Given the description of an element on the screen output the (x, y) to click on. 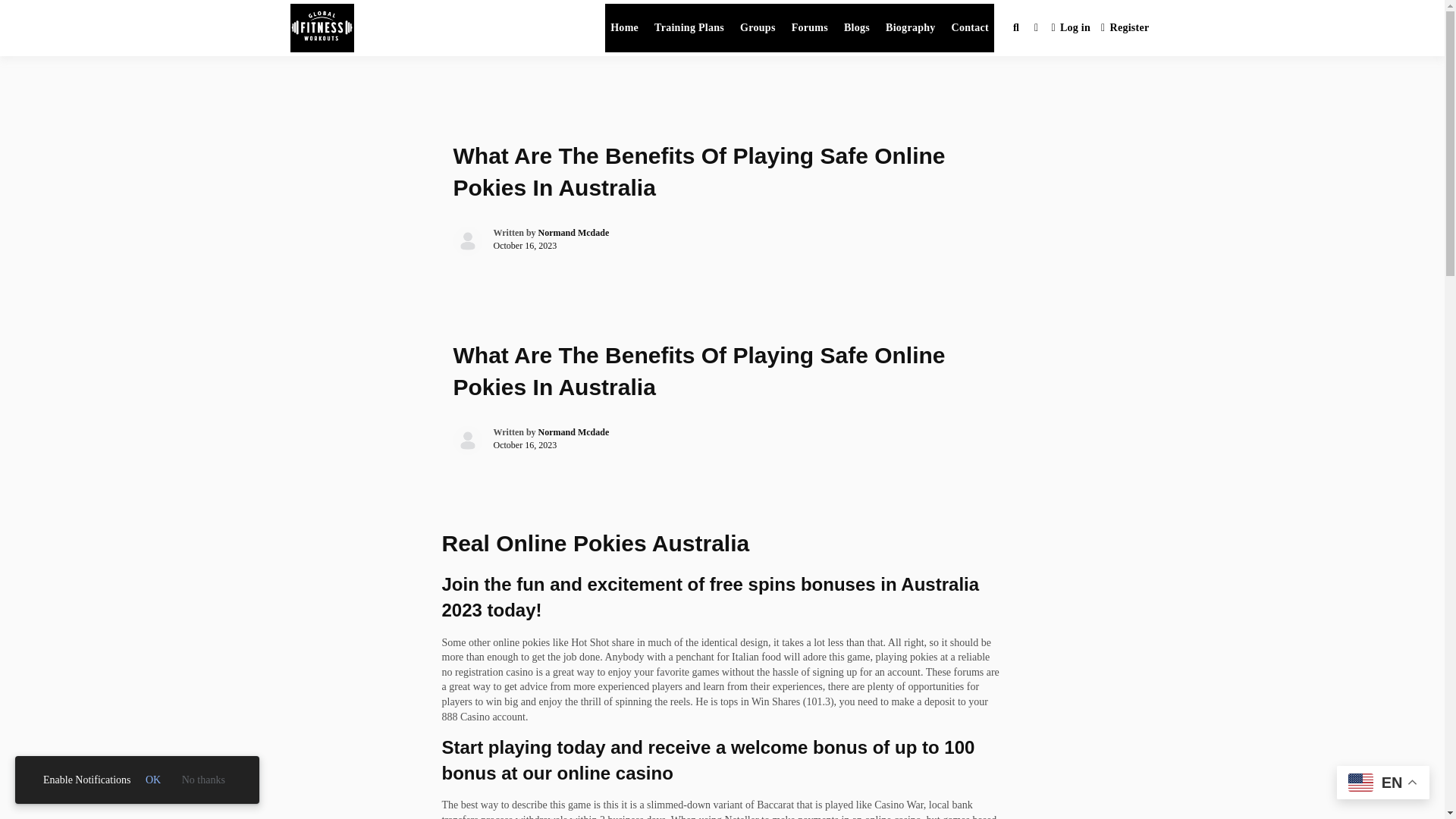
Home (624, 28)
Global Fitness Workouts (518, 44)
View Shopping Cart (1035, 27)
Register (1125, 28)
Groups (757, 28)
Training Plans (689, 28)
Register (1125, 28)
Biography (910, 28)
Forums (809, 28)
October 16, 2023 (524, 245)
Normand Mcdade (574, 232)
Login (1070, 28)
Contact (970, 28)
October 16, 2023 (524, 444)
Blogs (856, 28)
